Given the description of an element on the screen output the (x, y) to click on. 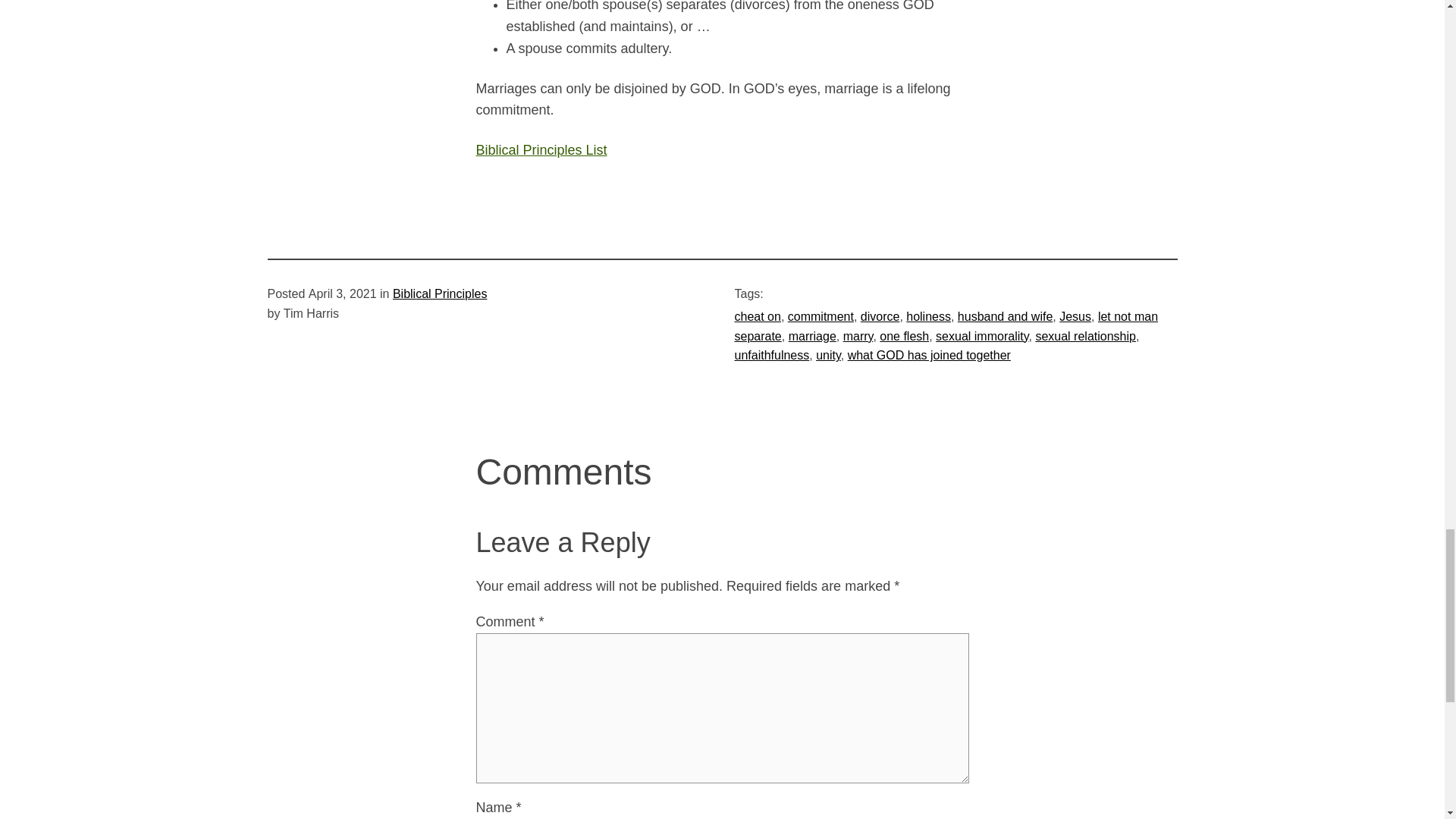
marry (858, 336)
commitment (820, 316)
one flesh (903, 336)
sexual relationship (1085, 336)
let not man separate (945, 326)
marriage (812, 336)
unfaithfulness (771, 354)
Biblical Principles (440, 293)
divorce (879, 316)
what GOD has joined together (928, 354)
Jesus (1074, 316)
husband and wife (1005, 316)
Biblical Principles List (541, 150)
cheat on (756, 316)
unity (828, 354)
